Given the description of an element on the screen output the (x, y) to click on. 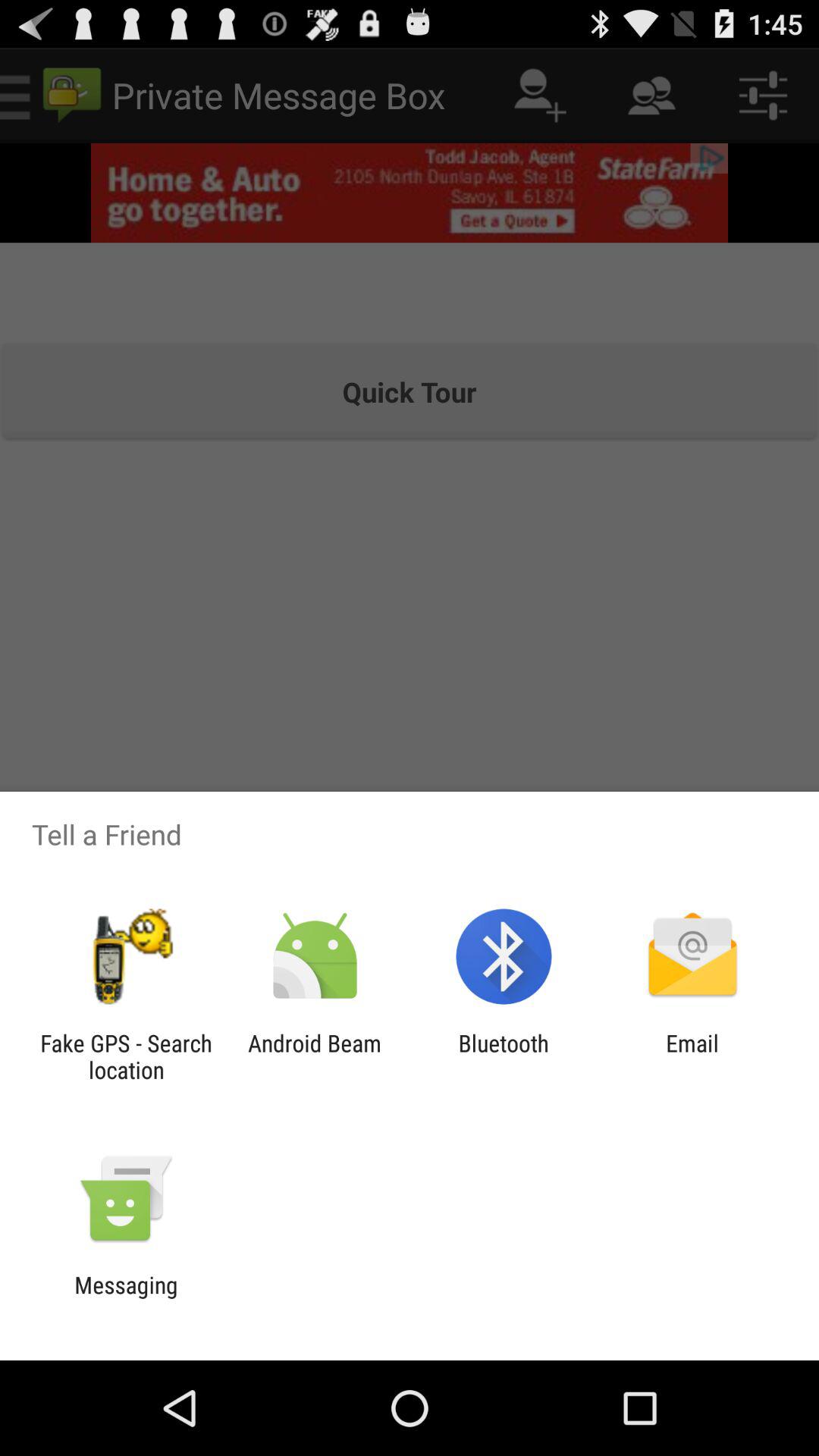
turn on the item to the left of the email (503, 1056)
